Given the description of an element on the screen output the (x, y) to click on. 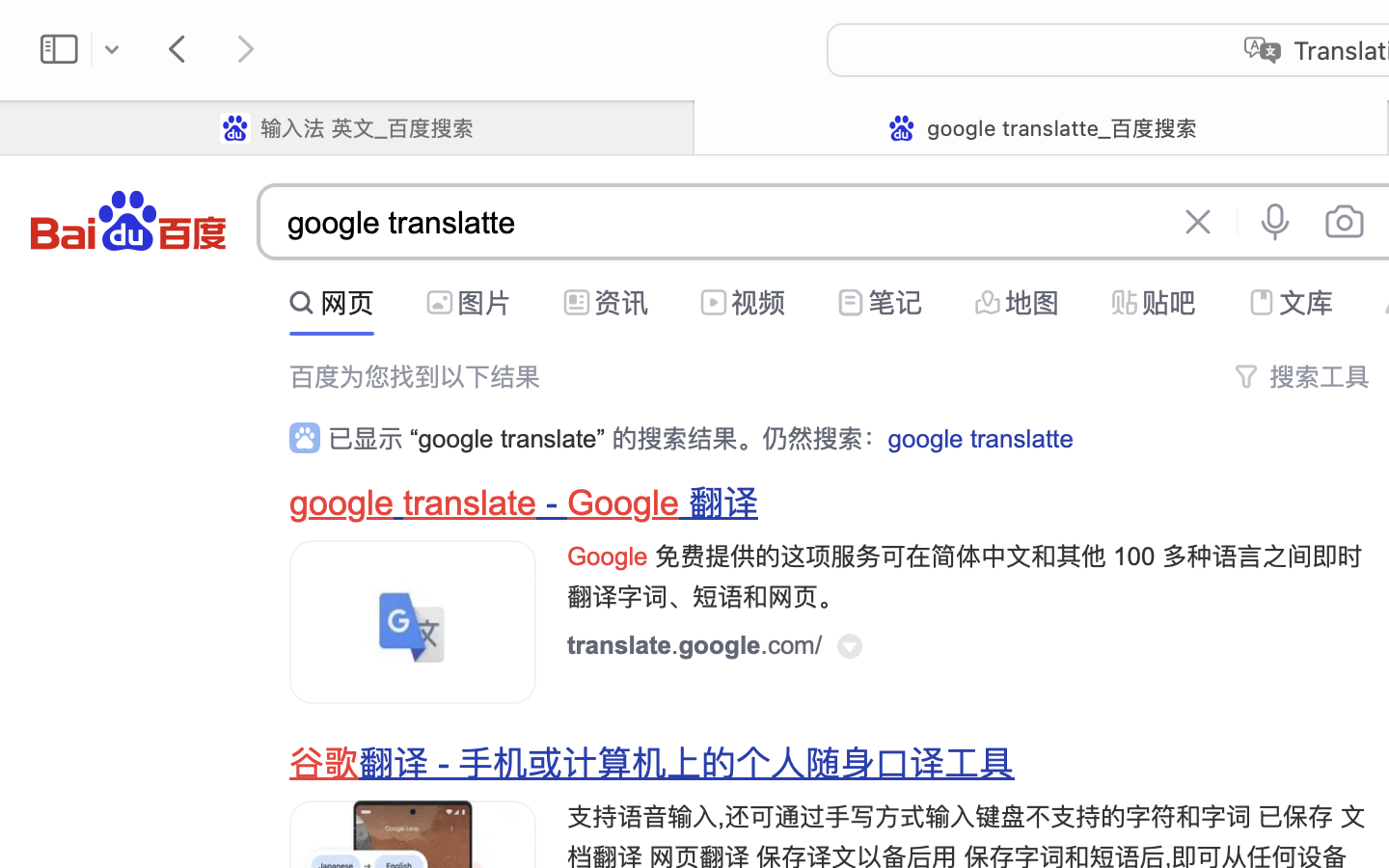
翻译 - 手机或计算机上的个人随身口译工具 Element type: AXStaticText (686, 763)
